Given the description of an element on the screen output the (x, y) to click on. 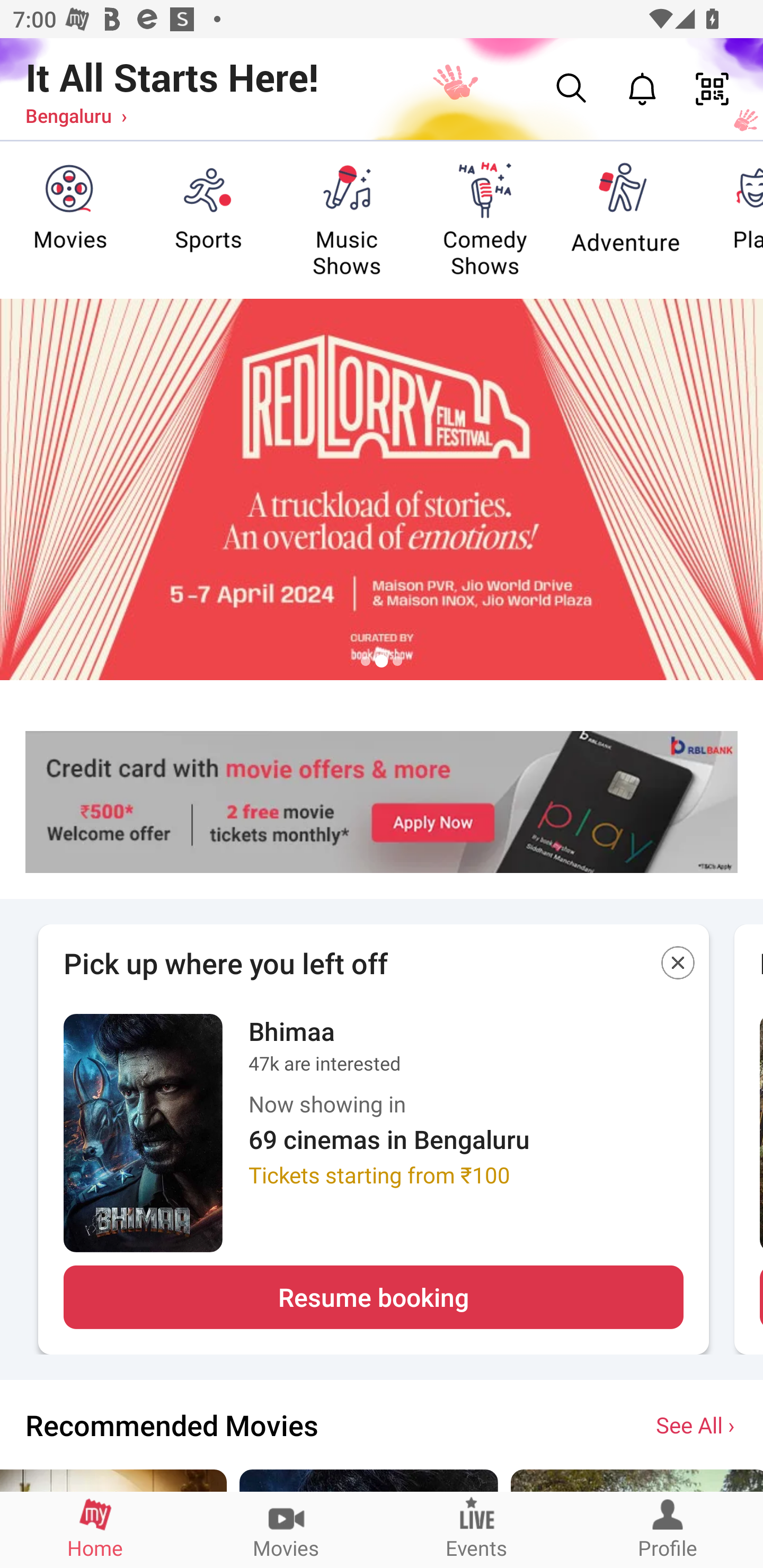
Bengaluru  › (76, 114)
  (678, 966)
Resume booking (373, 1297)
See All › (696, 1424)
Home (95, 1529)
Movies (285, 1529)
Events (476, 1529)
Profile (667, 1529)
